Given the description of an element on the screen output the (x, y) to click on. 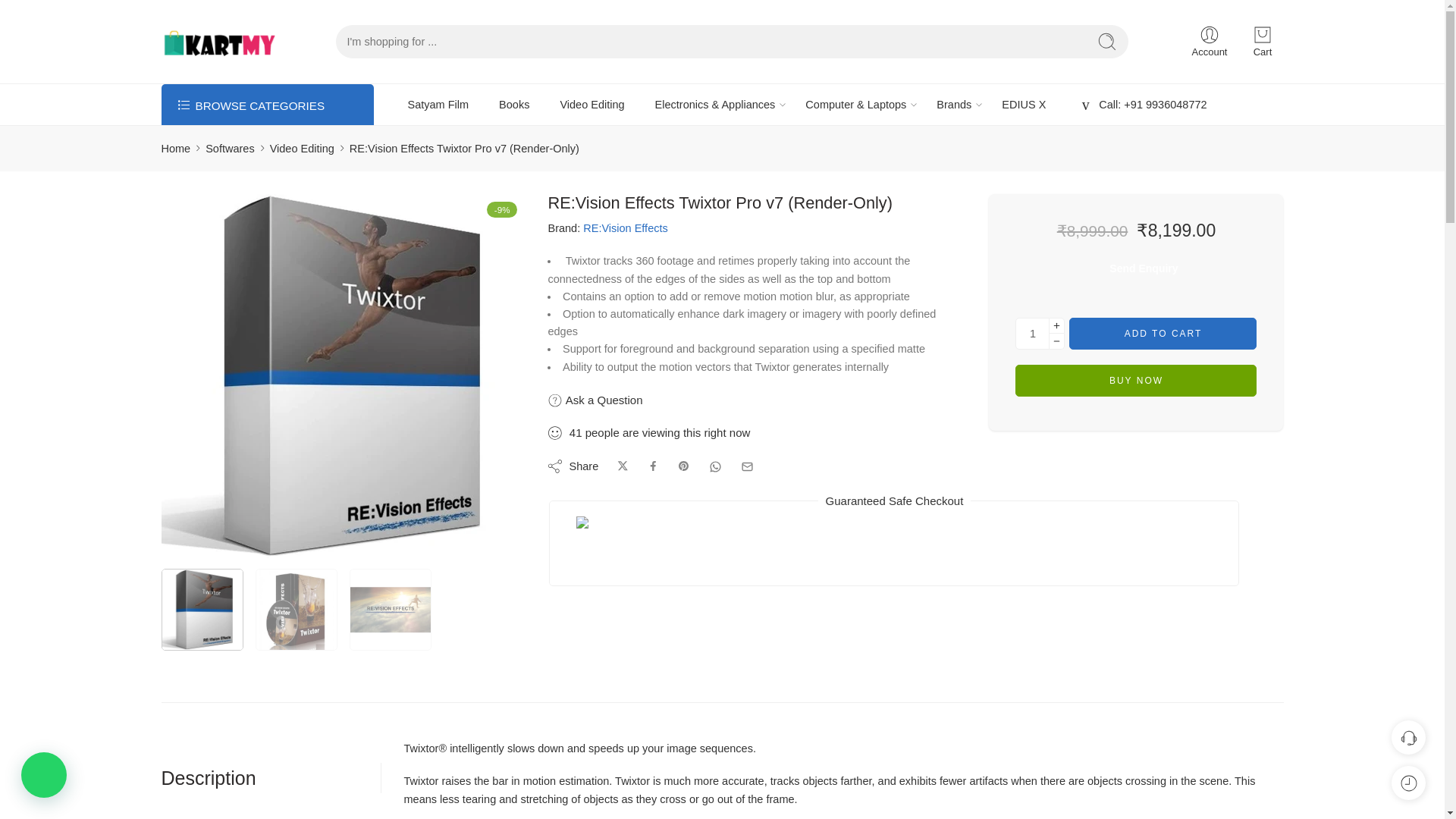
1 (1031, 333)
EDIUS X (1023, 105)
RE:Vision Effects (625, 228)
Softwares (229, 149)
Home (175, 149)
Video Editing (301, 149)
Satyam Film (437, 105)
Cart (1262, 41)
EDIUS X (1023, 105)
Cart (1262, 41)
